Given the description of an element on the screen output the (x, y) to click on. 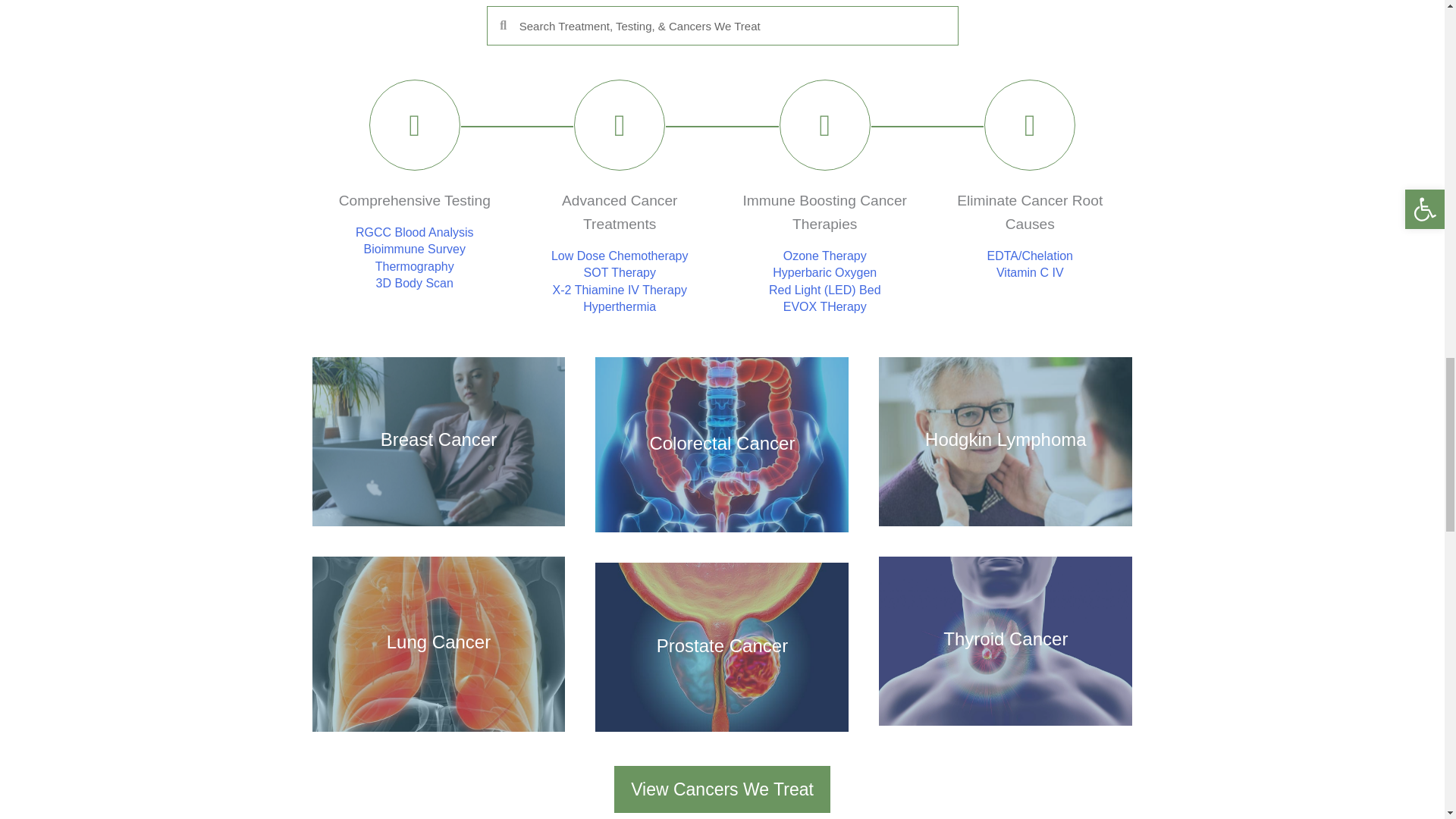
Search (731, 25)
